Given the description of an element on the screen output the (x, y) to click on. 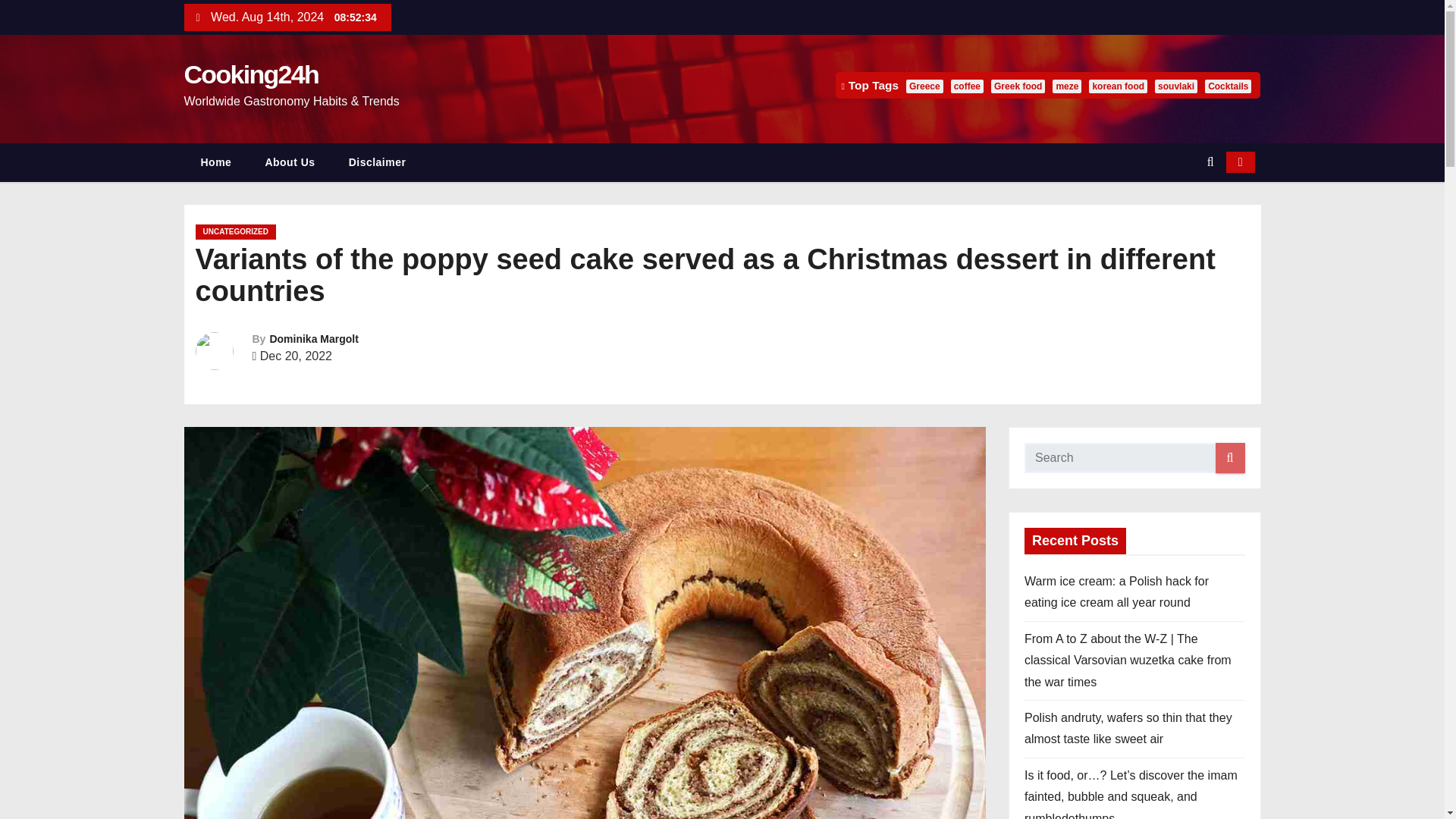
Disclaimer (377, 162)
Greece (924, 86)
Greek food (1018, 86)
Dominika Margolt (313, 338)
souvlaki (1175, 86)
Cocktails (1227, 86)
Home (215, 162)
coffee (967, 86)
About Us (289, 162)
Home (215, 162)
